Given the description of an element on the screen output the (x, y) to click on. 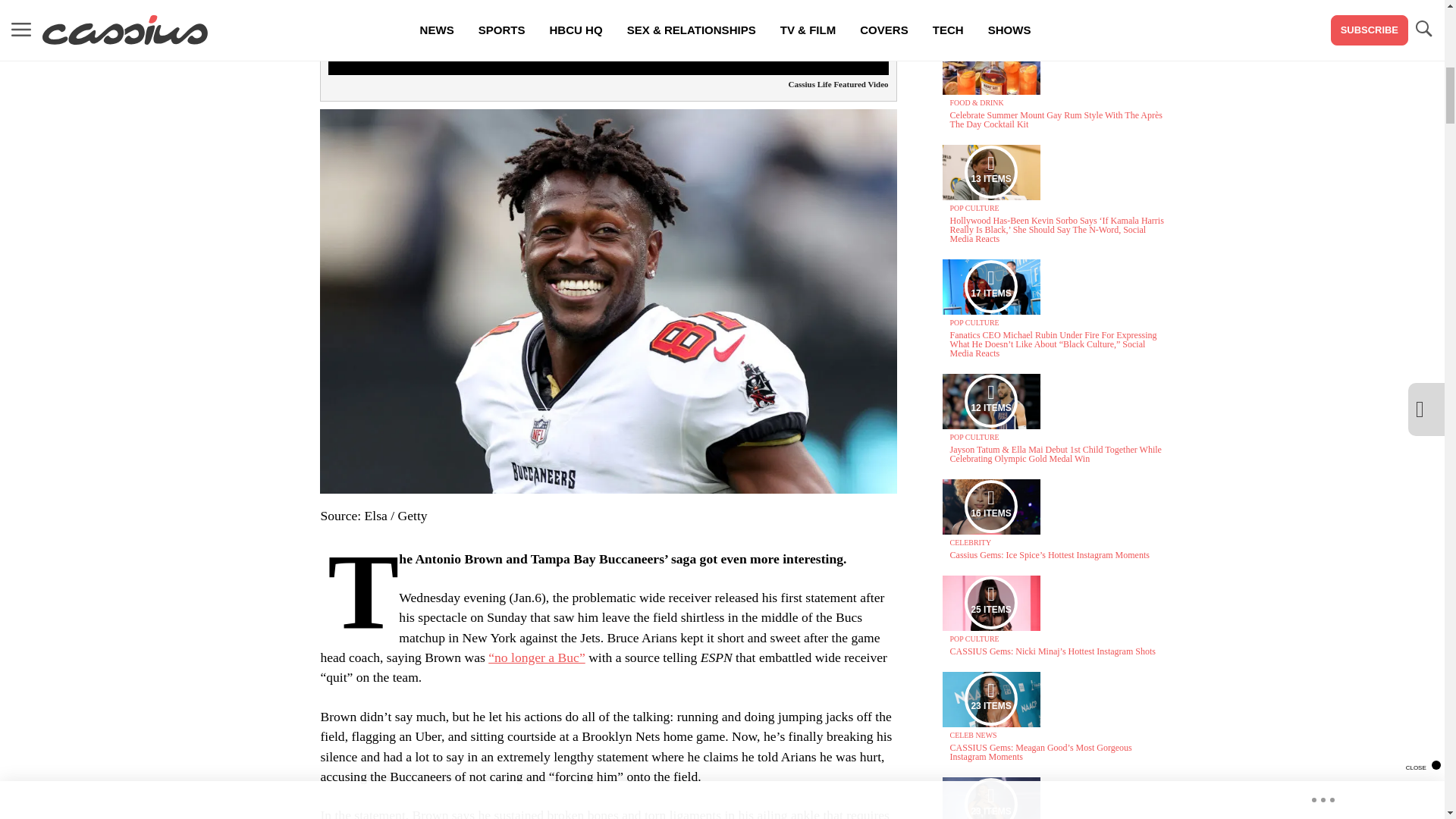
Media Playlist (990, 506)
Media Playlist (990, 286)
Media Playlist (990, 798)
Media Playlist (990, 698)
POP CULTURE (974, 207)
Media Playlist (990, 602)
Media Playlist (990, 400)
13 ITEMS (991, 171)
POP CULTURE (974, 322)
17 ITEMS (991, 286)
